Given the description of an element on the screen output the (x, y) to click on. 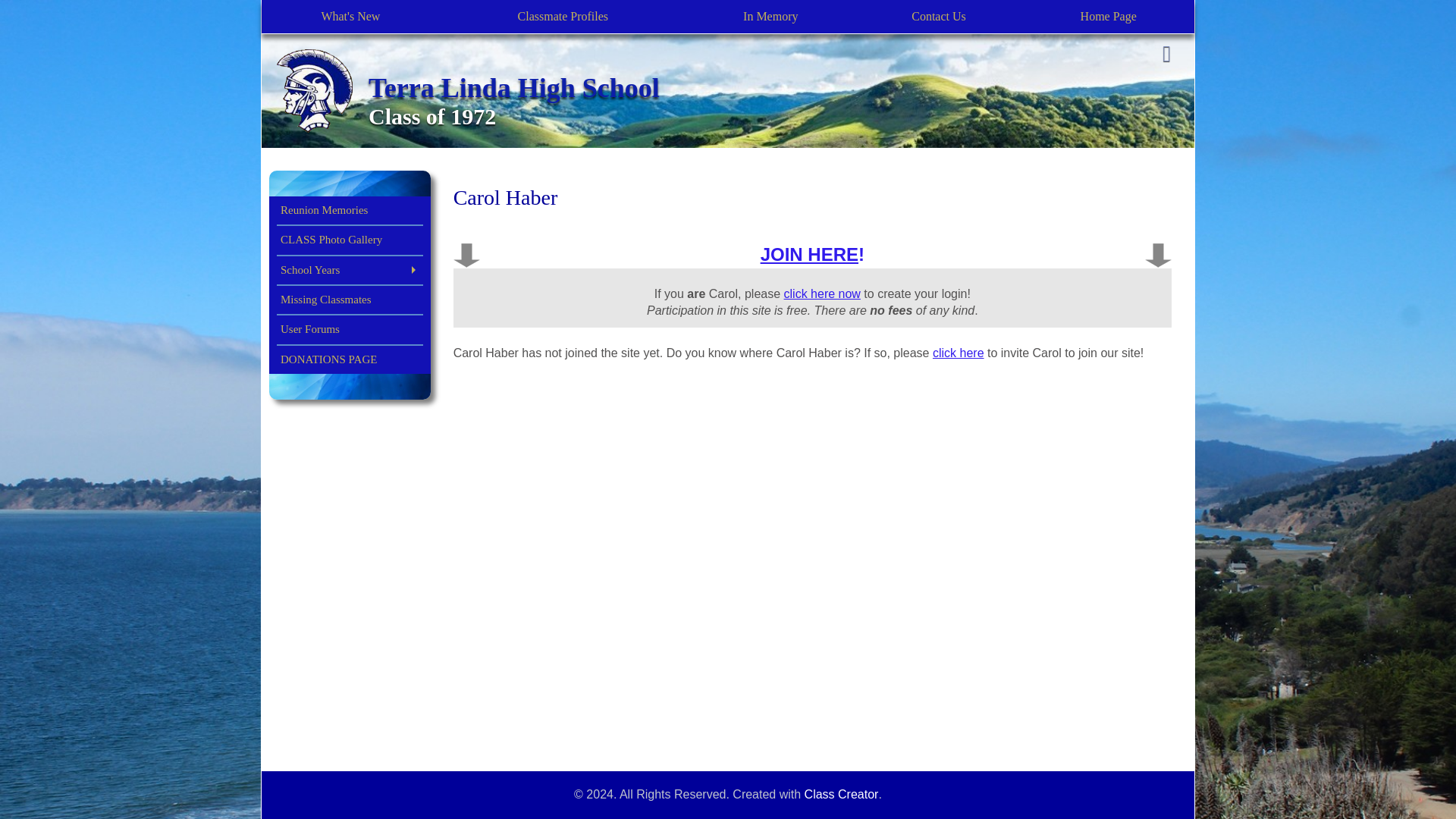
School Years (349, 270)
Classmate Profiles (562, 16)
Contact Us (939, 16)
Home Page (1107, 16)
Reunion Memories (349, 209)
CLASS Photo Gallery (349, 240)
In Memory (770, 16)
Classmate Login (1166, 54)
What's New (350, 16)
